Given the description of an element on the screen output the (x, y) to click on. 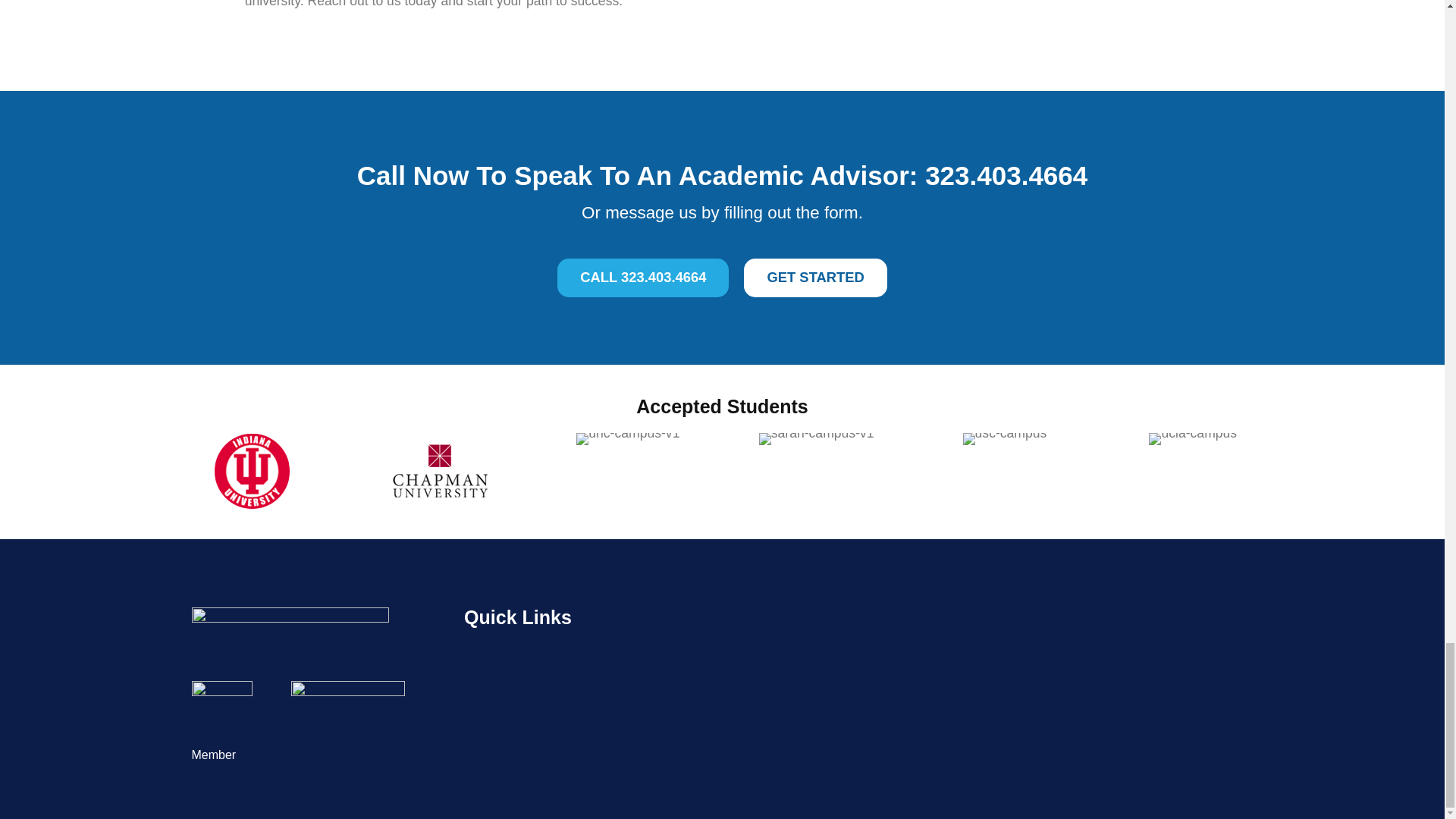
323.403.4664 (1005, 175)
GET STARTED (815, 277)
CALL 323.403.4664 (643, 277)
